Given the description of an element on the screen output the (x, y) to click on. 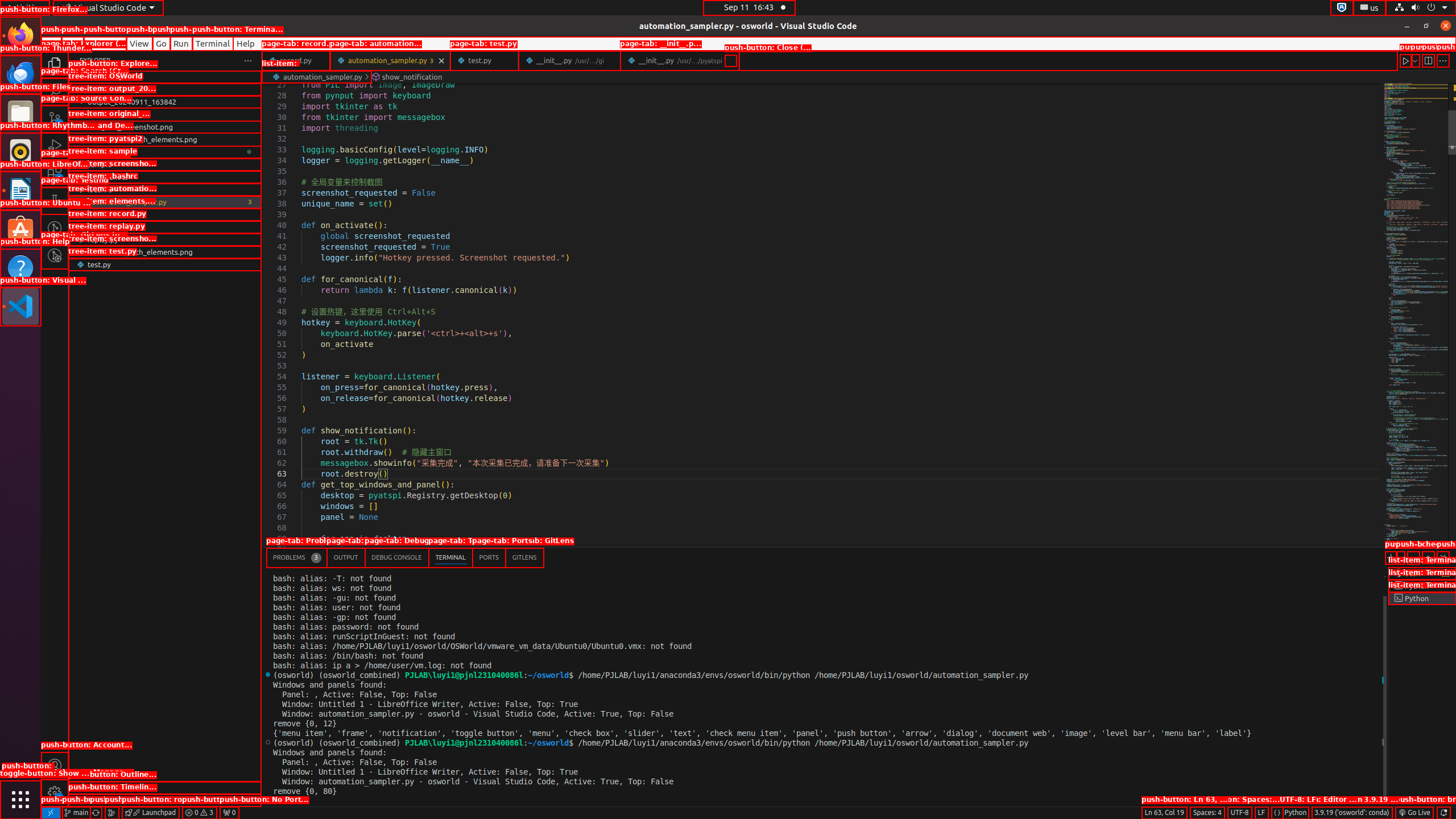
Testing Element type: page-tab (54, 200)
rocket gitlens-unplug Launchpad, GitLens Launchpad ᴘʀᴇᴠɪᴇᴡ    &mdash;    [$(question)](command:gitlens.launchpad.indicator.action?%22info%22 "What is this?") [$(gear)](command:workbench.action.openSettings?%22gitlens.launchpad%22 "Settings")  |  [$(circle-slash) Hide](command:gitlens.launchpad.indicator.action?%22hide%22 "Hide") --- [Launchpad](command:gitlens.launchpad.indicator.action?%info%22 "Learn about Launchpad") organizes your pull requests into actionable groups to help you focus and keep your team unblocked. It's always accessible using the `GitLens: Open Launchpad` command from the Command Palette. --- [Connect an integration](command:gitlens.showLaunchpad?%7B%22source%22%3A%22launchpad-indicator%22%7D "Connect an integration") to get started. Element type: push-button (150, 812)
pyatspi2 Element type: tree-item (164, 151)
automation_sampler.py Element type: page-tab (389, 60)
Run or Debug... Element type: push-button (1414, 60)
